Given the description of an element on the screen output the (x, y) to click on. 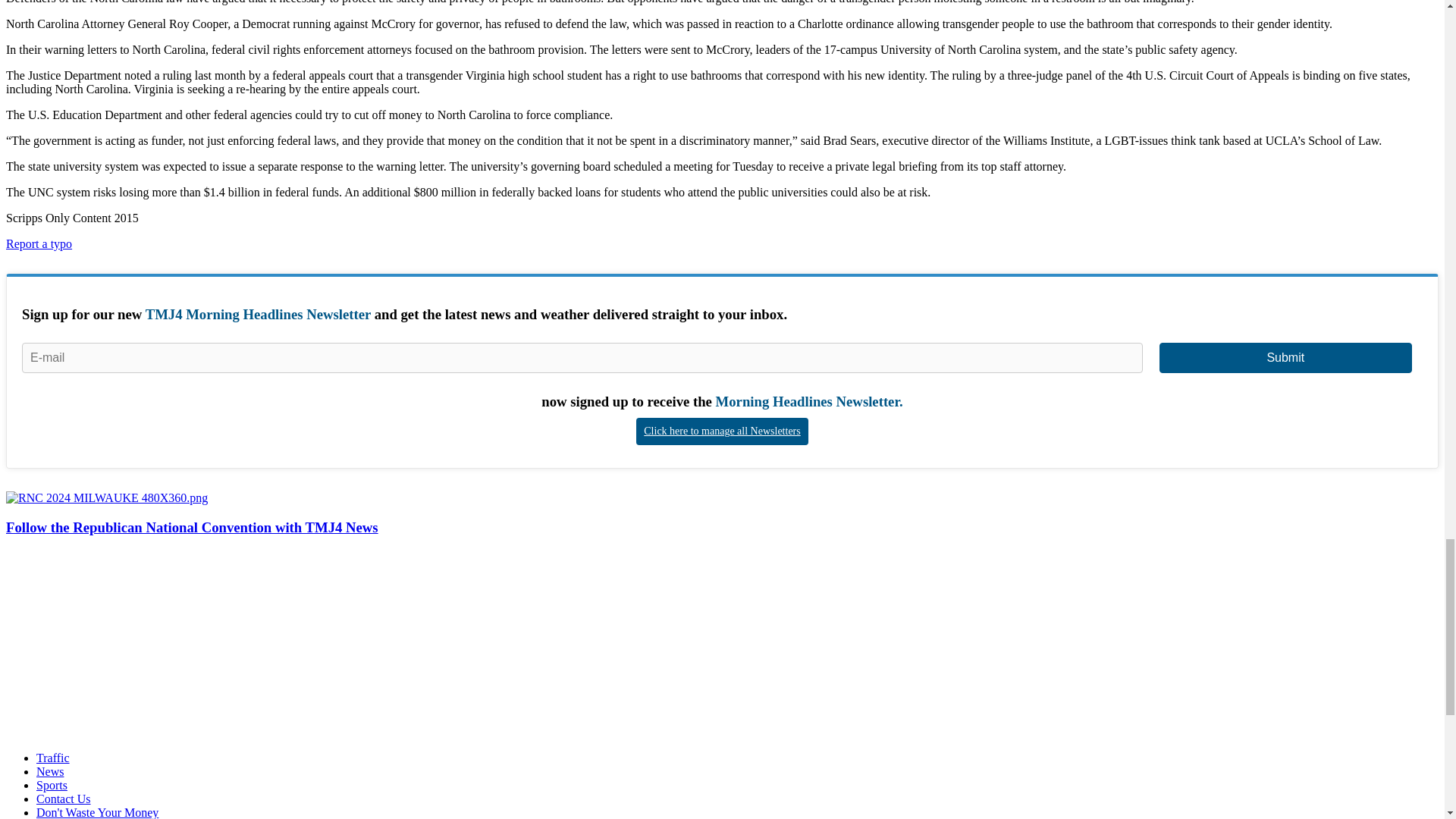
3rd party ad content (118, 644)
Submit (1284, 358)
